Given the description of an element on the screen output the (x, y) to click on. 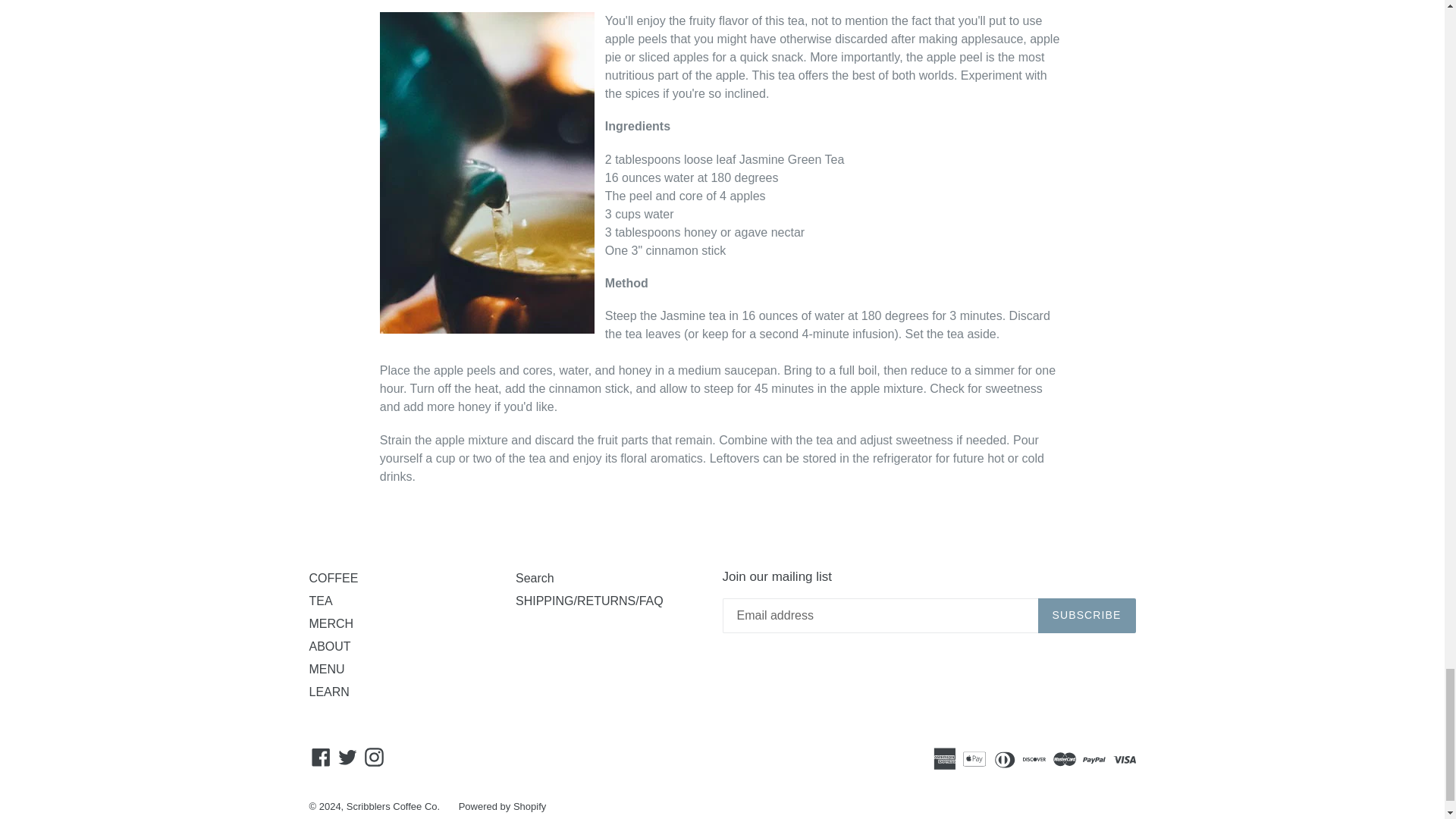
Scribblers Coffee Co. on Instagram (373, 756)
Scribblers Coffee Co. on Facebook (320, 756)
Scribblers Coffee Co. on Twitter (347, 756)
